Given the description of an element on the screen output the (x, y) to click on. 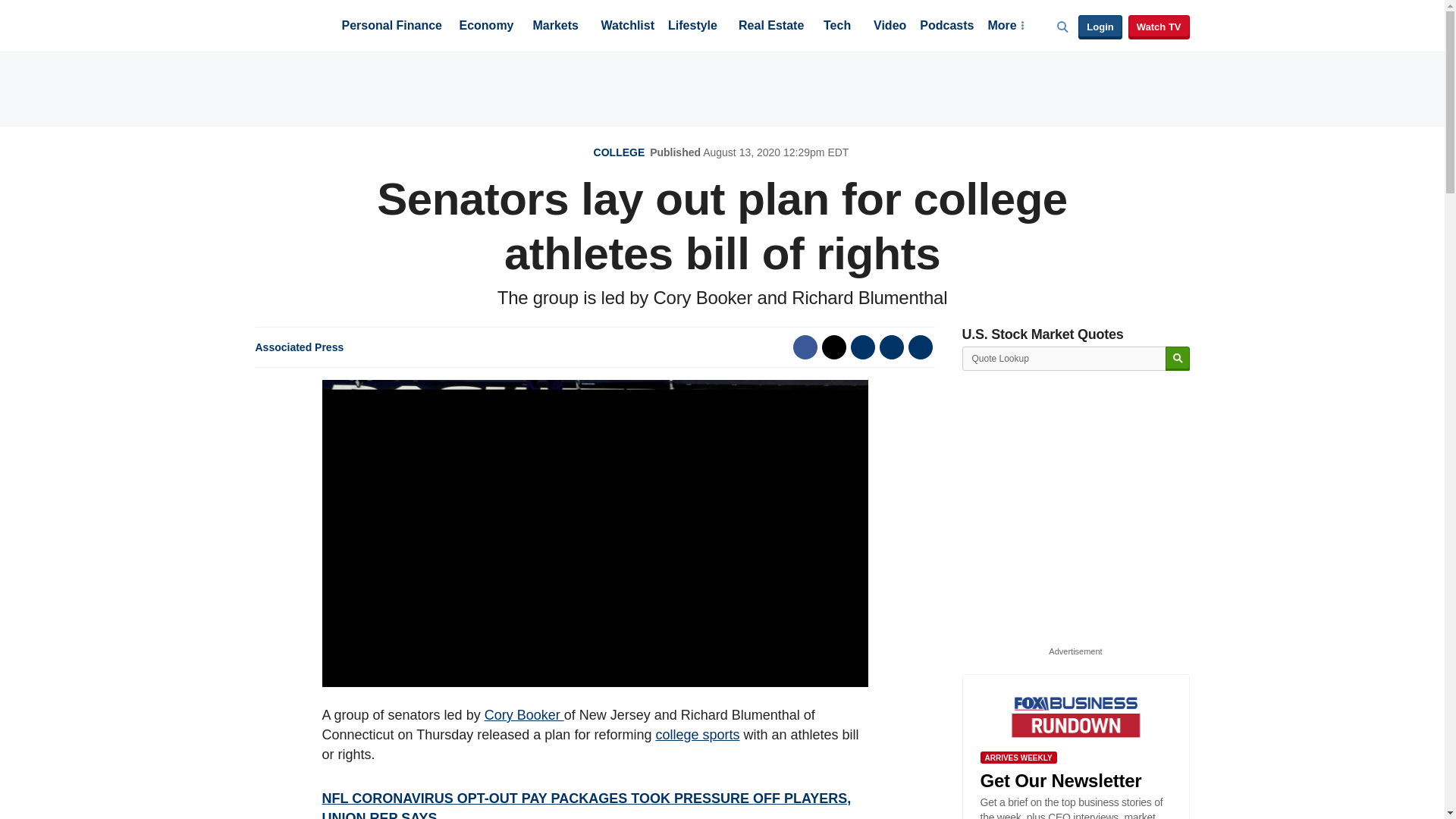
Lifestyle (692, 27)
Search (1176, 358)
Podcasts (947, 27)
Login (1099, 27)
Search (1176, 358)
Watchlist (626, 27)
Video (889, 27)
Tech (837, 27)
Fox Business (290, 24)
More (1005, 27)
Personal Finance (391, 27)
Watch TV (1158, 27)
Real Estate (770, 27)
Markets (555, 27)
Economy (486, 27)
